Given the description of an element on the screen output the (x, y) to click on. 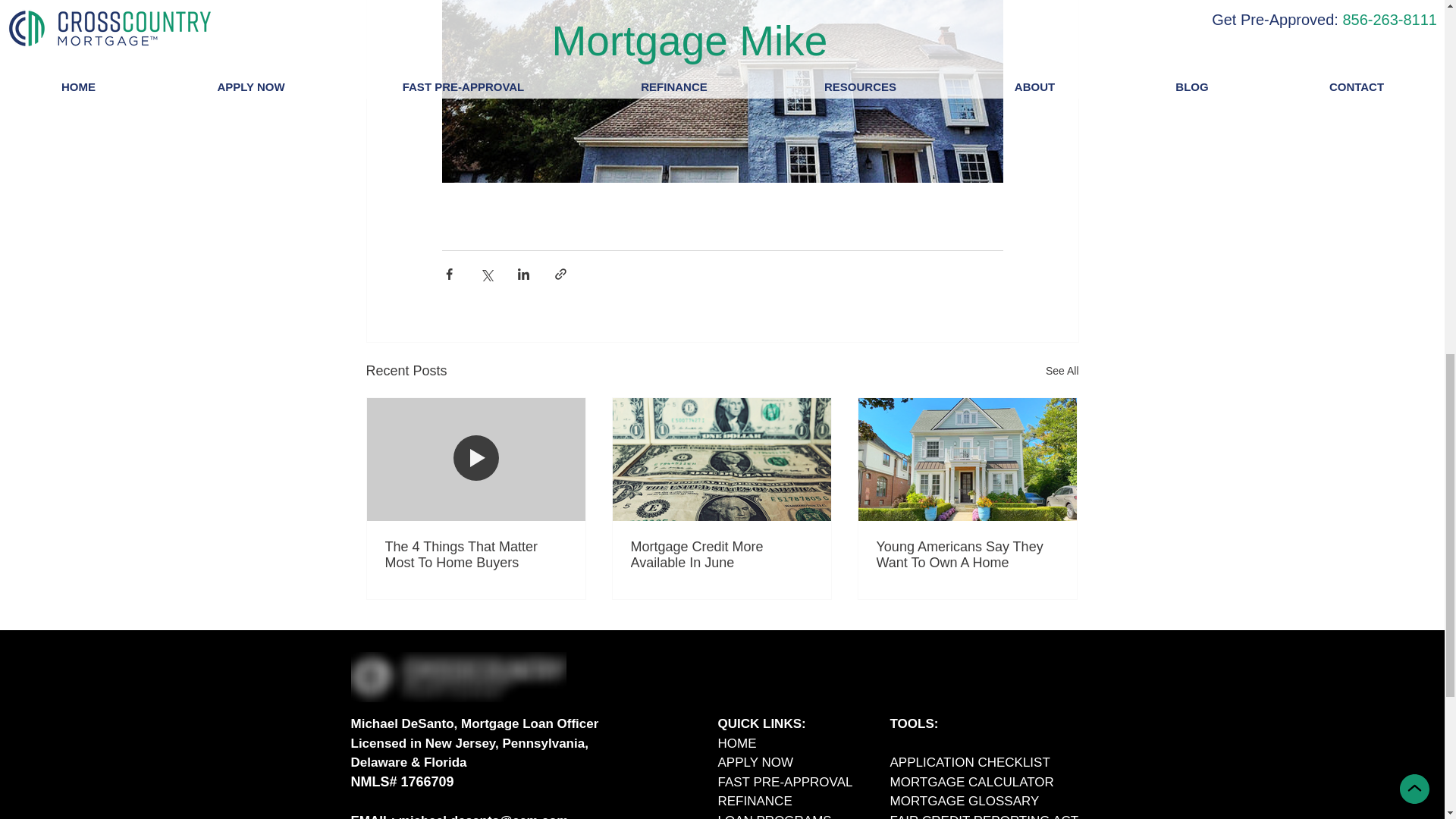
REFINANCE (754, 800)
The 4 Things That Matter Most To Home Buyers (476, 554)
See All (1061, 371)
LOAN PROGRAMS (774, 816)
Mortgage Credit More Available In June (721, 554)
APPLY NOW (755, 762)
EMAIL: (373, 816)
QUICK LINKS: (761, 723)
Young Americans Say They Want To Own A Home (967, 554)
HOME (736, 742)
FAST PRE-APPROVAL (784, 781)
